Given the description of an element on the screen output the (x, y) to click on. 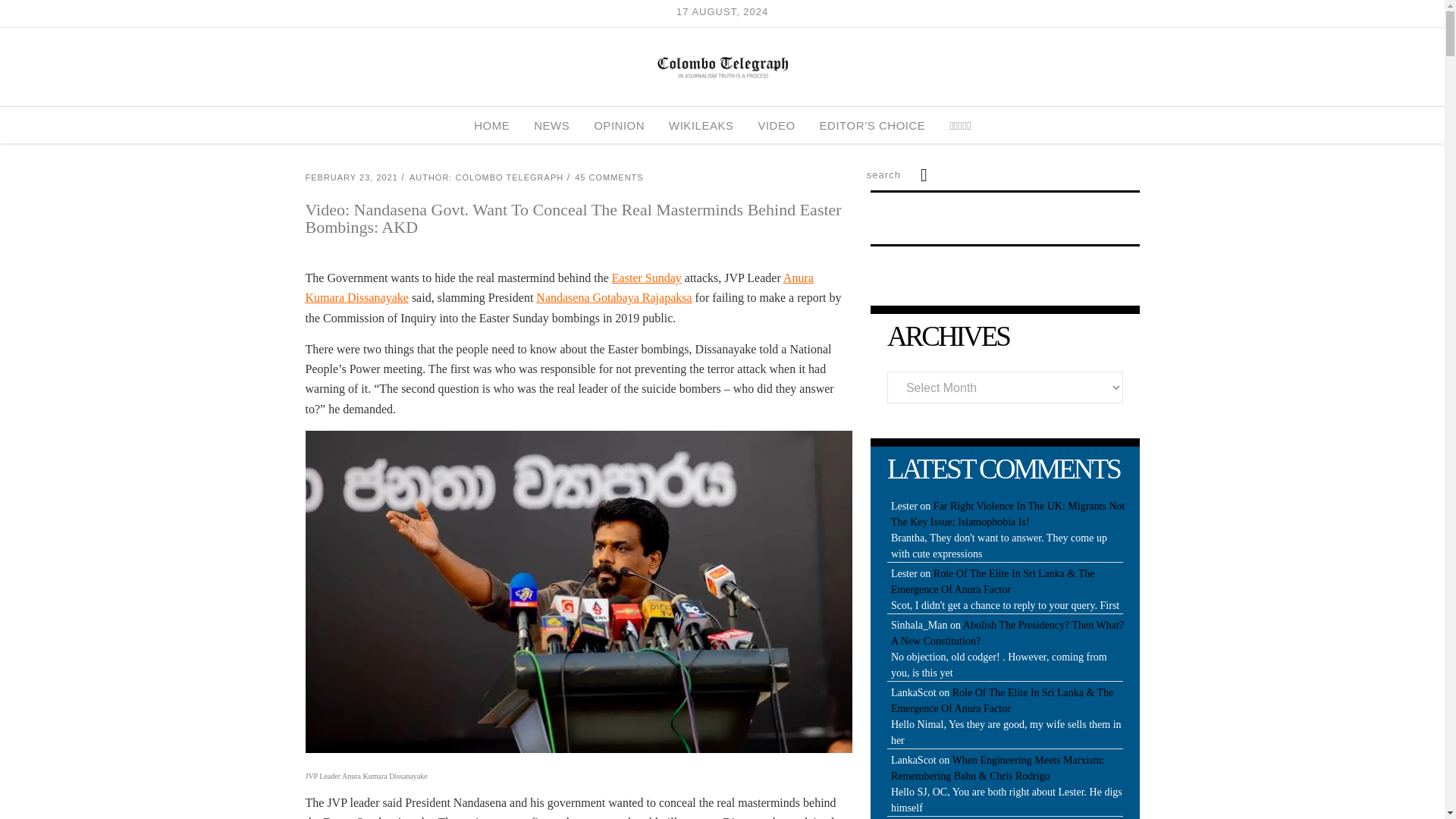
Nandasena Gotabaya Rajapaksa (613, 297)
Easter Sunday (646, 277)
VIDEO (775, 125)
FEBRUARY 23, 2021 (350, 176)
OPINION (618, 125)
HOME (491, 125)
Anura Kumara Dissanayake (558, 287)
AUTHOR: COLOMBO TELEGRAPH (486, 176)
45 COMMENTS (609, 176)
WIKILEAKS (700, 125)
